Given the description of an element on the screen output the (x, y) to click on. 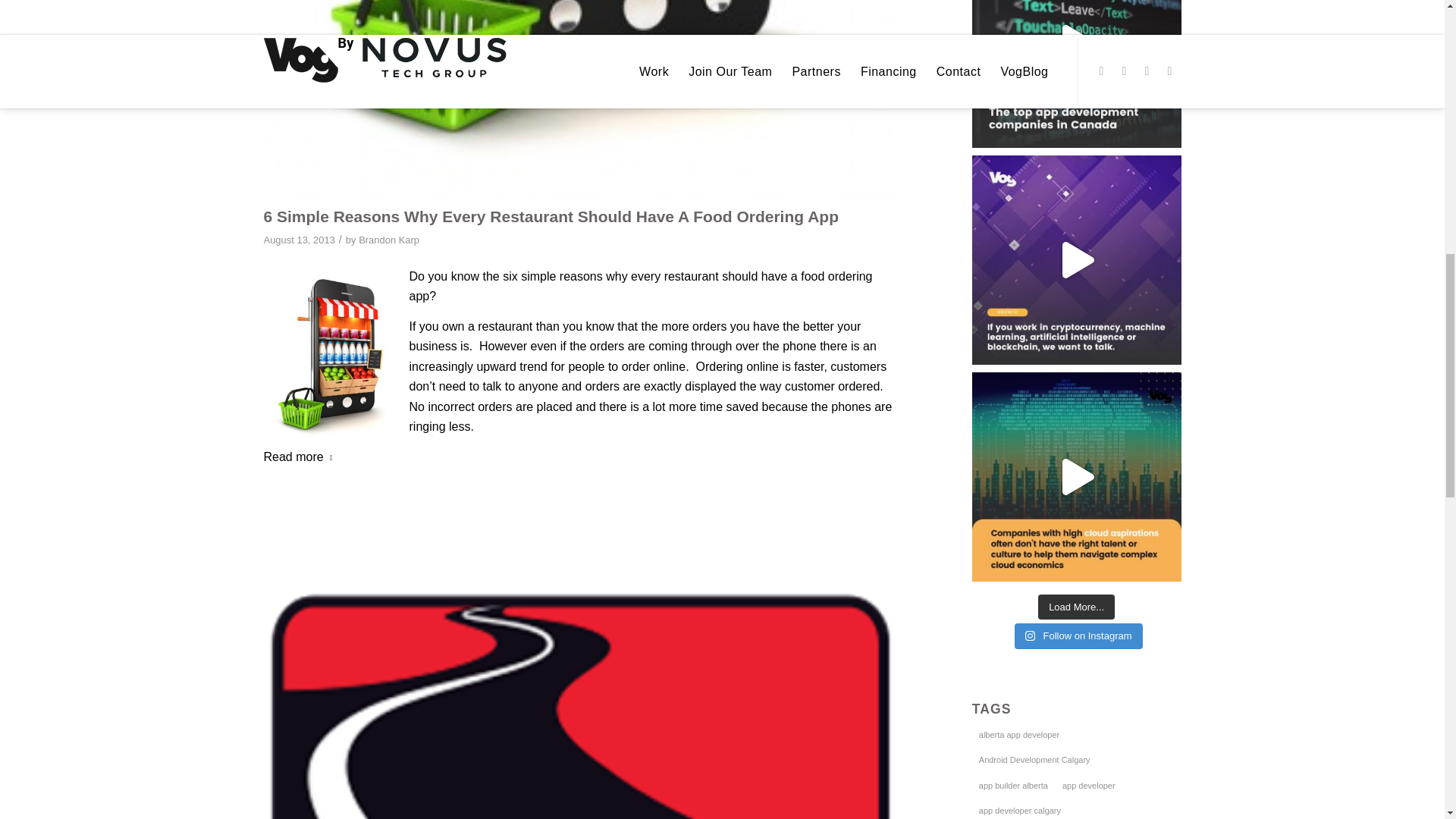
app developer calgary (1019, 808)
Food Ordering Apps- Vog Calgary App Developer (579, 99)
Read more (301, 457)
Brandon Karp (388, 239)
alberta app developer (1018, 734)
app developer (1088, 785)
why every restaurant should have a food ordering app (640, 286)
Follow on Instagram (1078, 636)
Android Development Calgary (1034, 759)
Load More... (1076, 606)
Posts by Brandon Karp (388, 239)
app builder alberta (1013, 785)
